Given the description of an element on the screen output the (x, y) to click on. 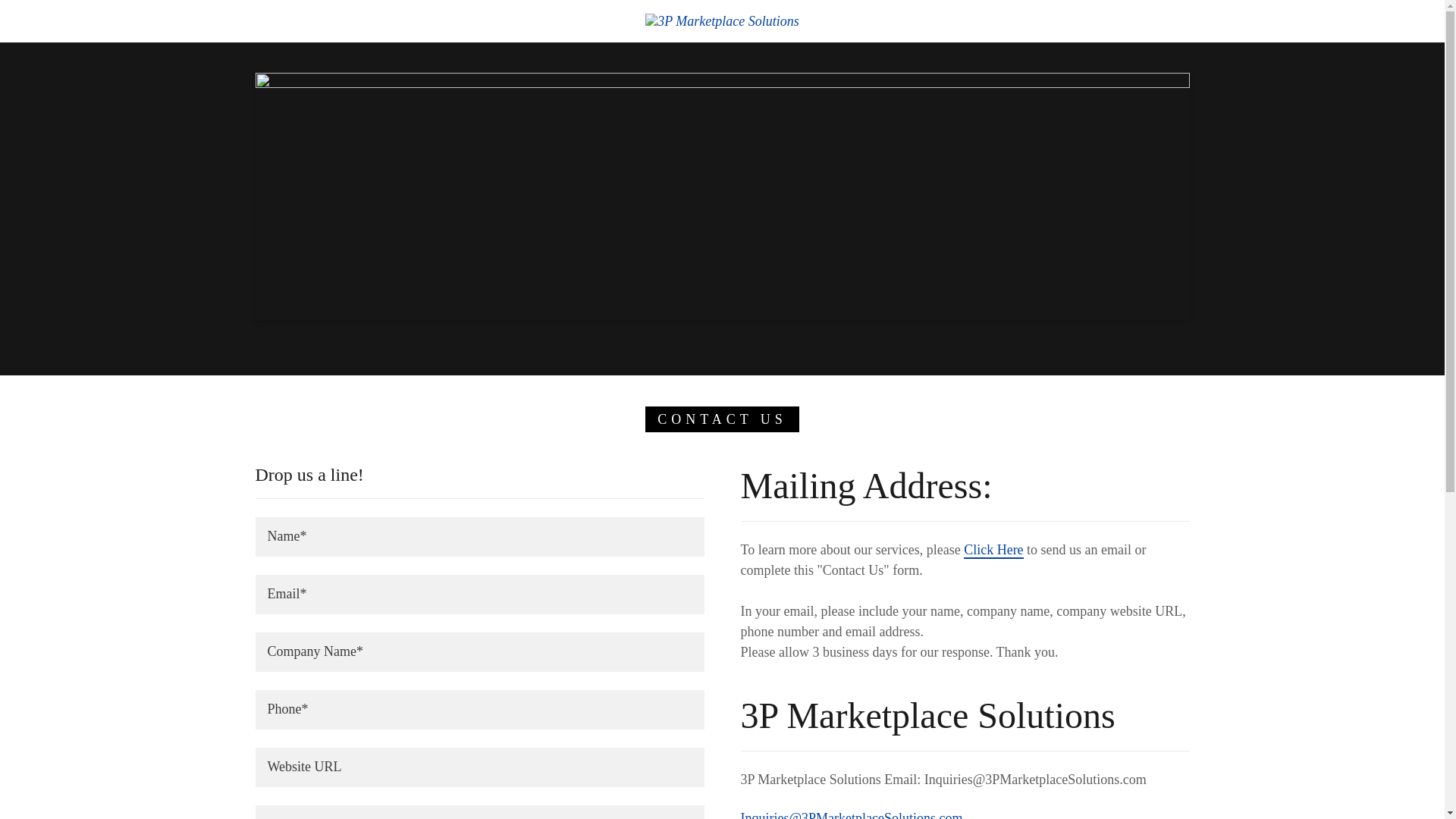
3P Marketplace Solutions Element type: hover (722, 20)
Click Here Element type: text (992, 550)
